Given the description of an element on the screen output the (x, y) to click on. 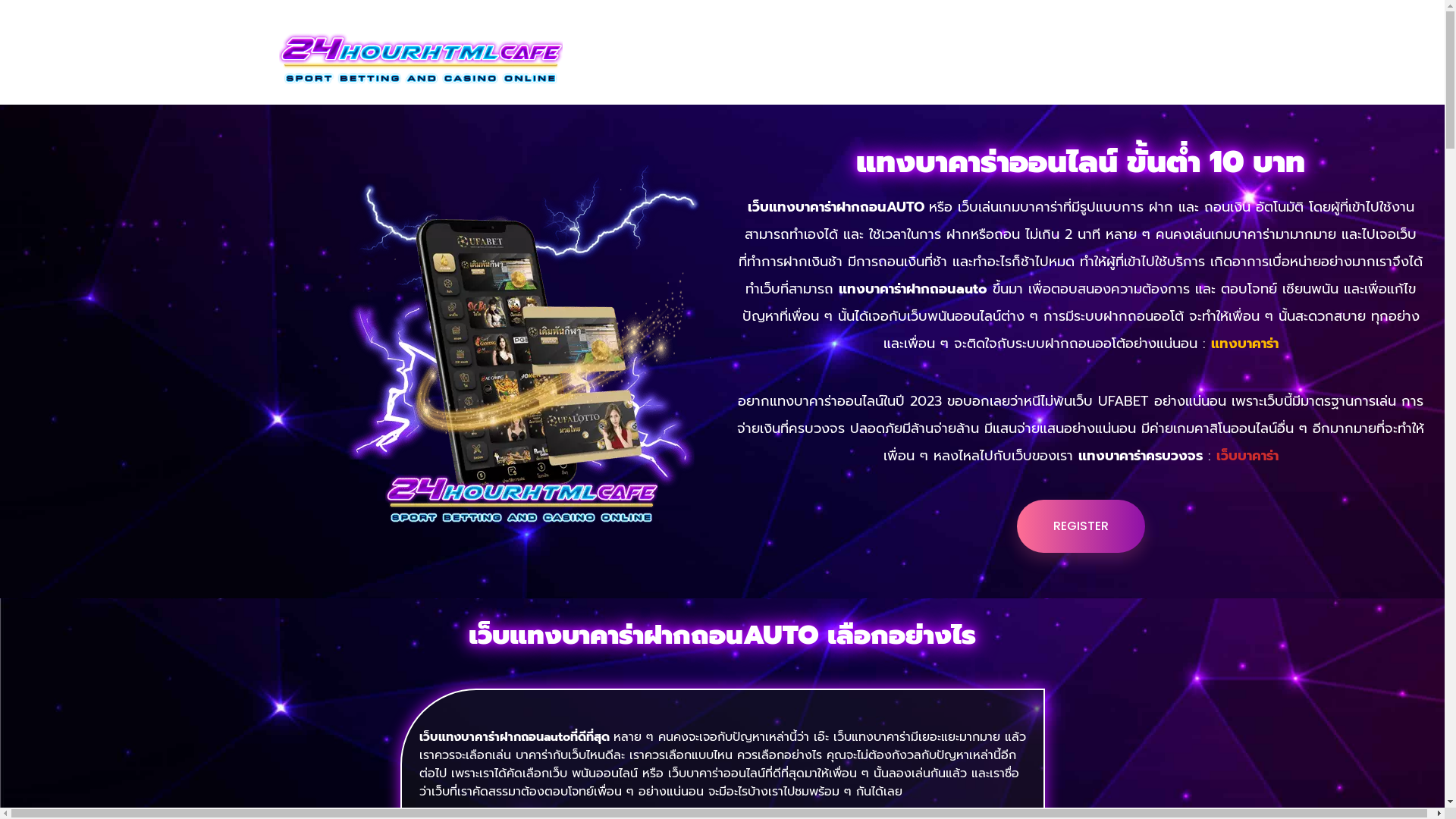
REGISTER Element type: text (1080, 525)
HOME Element type: text (603, 44)
